Given the description of an element on the screen output the (x, y) to click on. 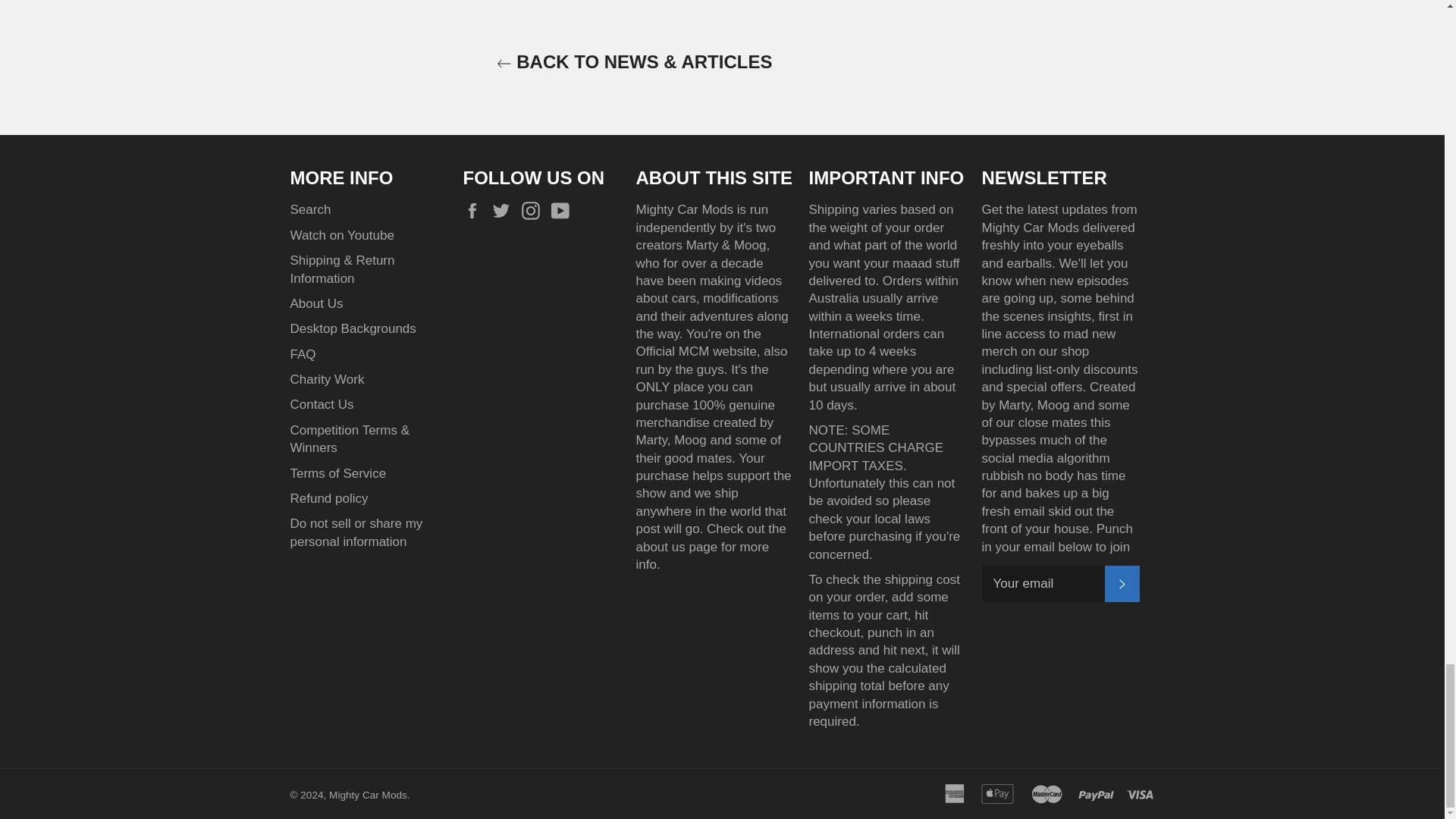
Mighty Car Mods on Instagram (534, 210)
Mighty Car Mods on Facebook (475, 210)
Mighty Car Mods on YouTube (563, 210)
Mighty Car Mods on Twitter (505, 210)
